Given the description of an element on the screen output the (x, y) to click on. 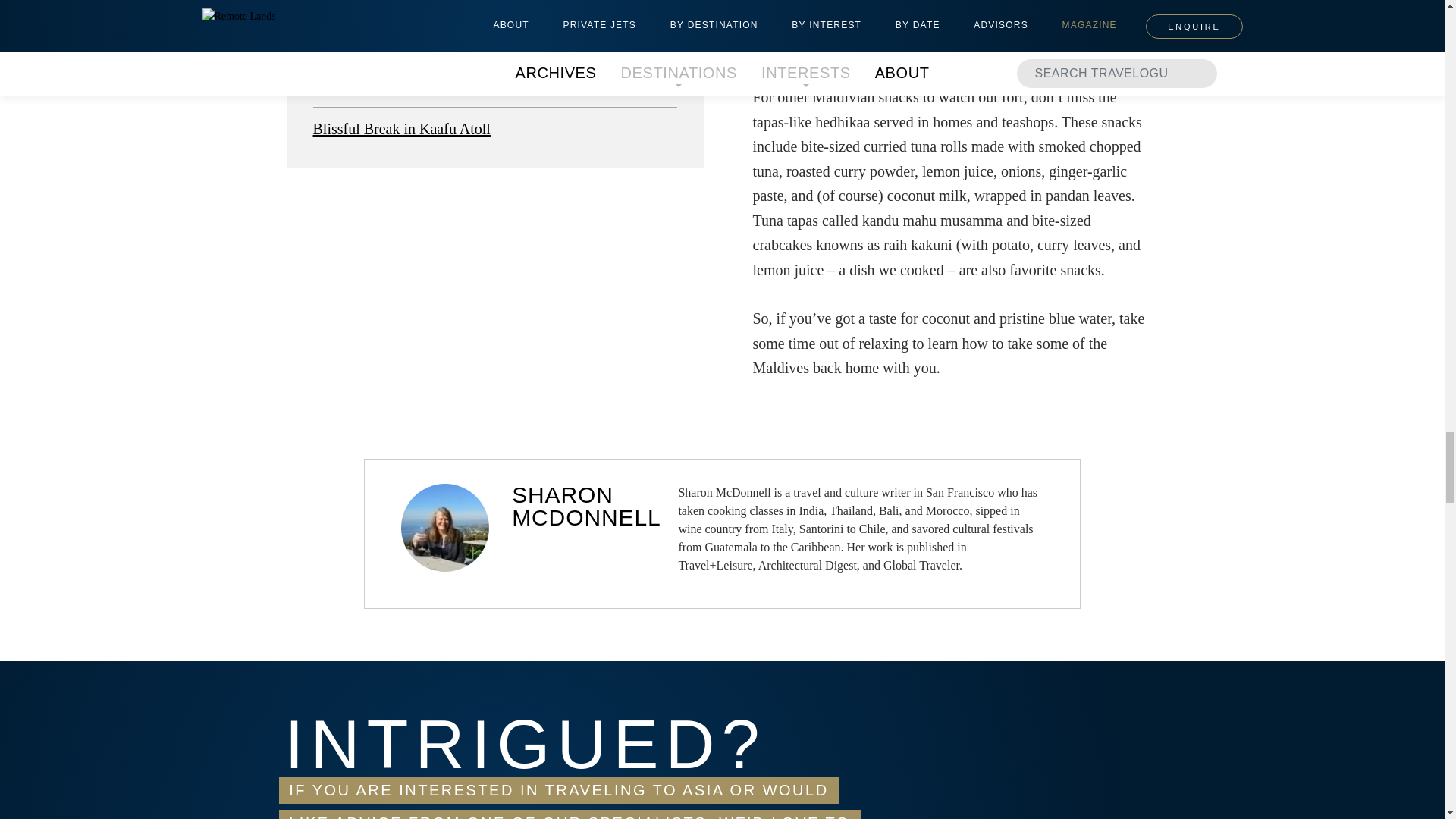
b140609004 (495, 10)
